Given the description of an element on the screen output the (x, y) to click on. 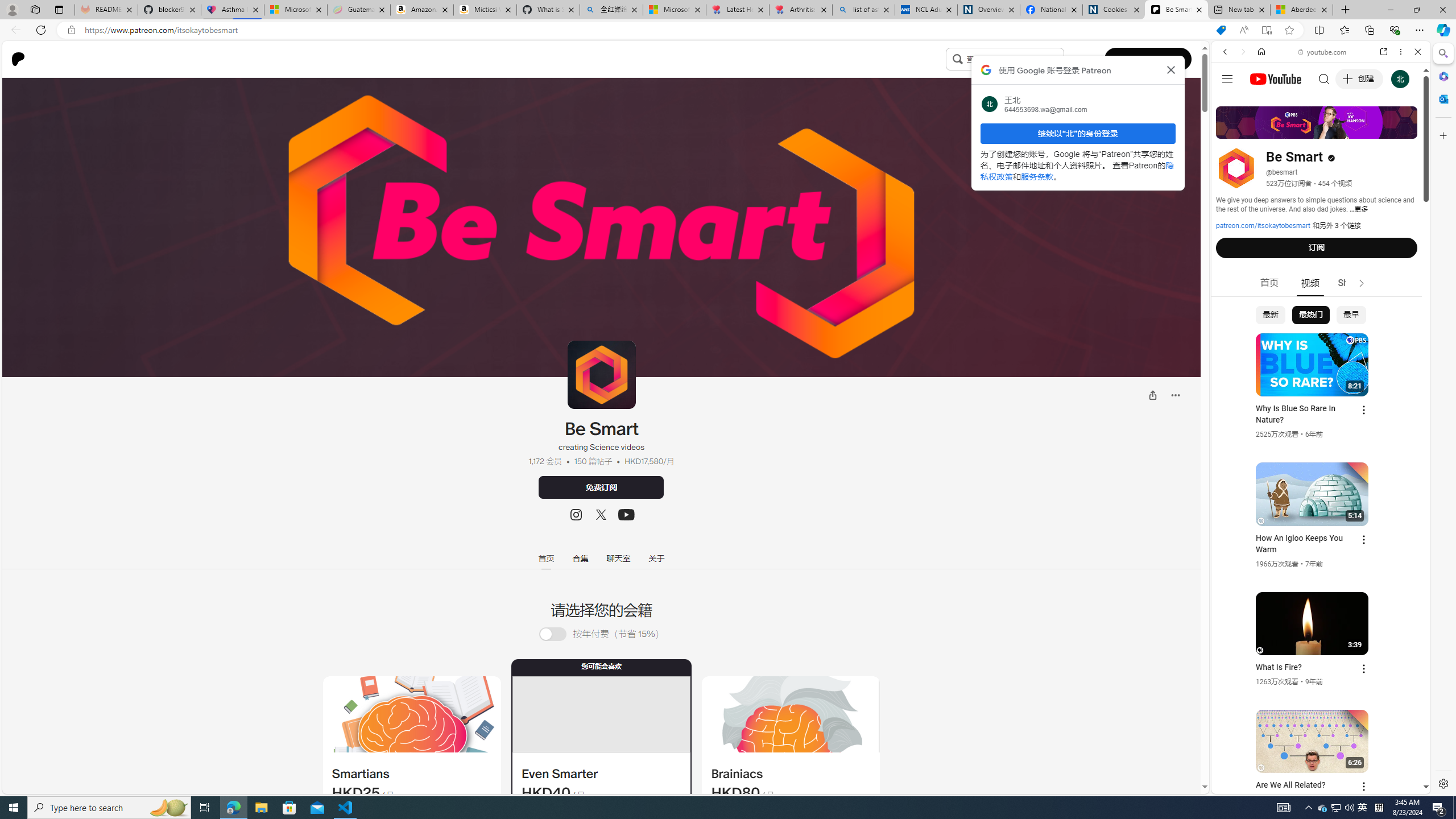
More options (1401, 51)
Close Customize pane (1442, 135)
Class: sc-jrQzAO inFiZu (957, 58)
Music (1320, 309)
Search Filter, WEB (1230, 129)
Google (1320, 281)
